Given the description of an element on the screen output the (x, y) to click on. 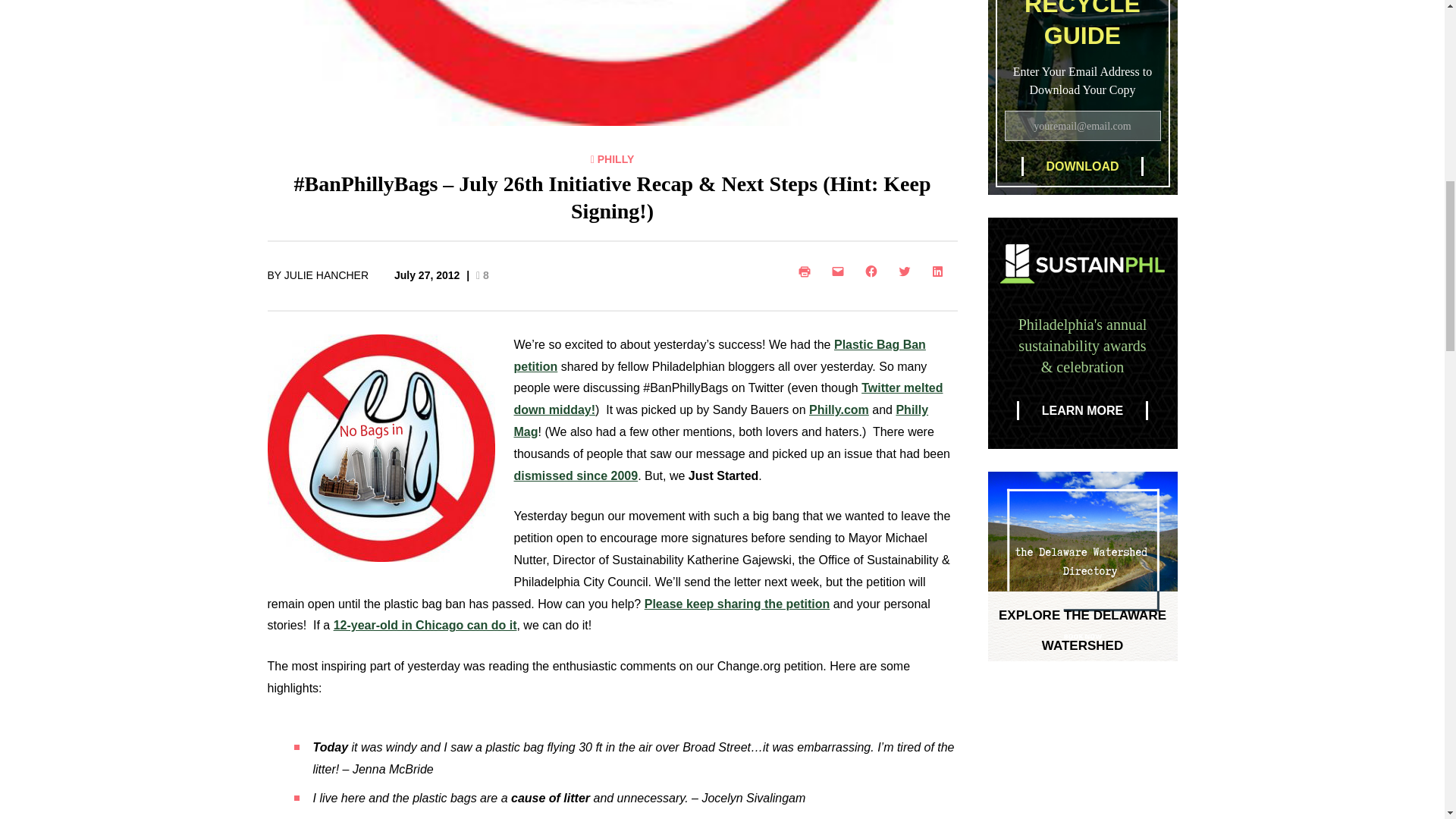
philly-plastic-bag-ban-campaign (380, 447)
Click to share on Facebook (873, 271)
Click to share on Twitter (906, 271)
Click to email a link to a friend (840, 271)
Click to print (807, 271)
download (1081, 166)
Click to share on LinkedIn (939, 271)
